Given the description of an element on the screen output the (x, y) to click on. 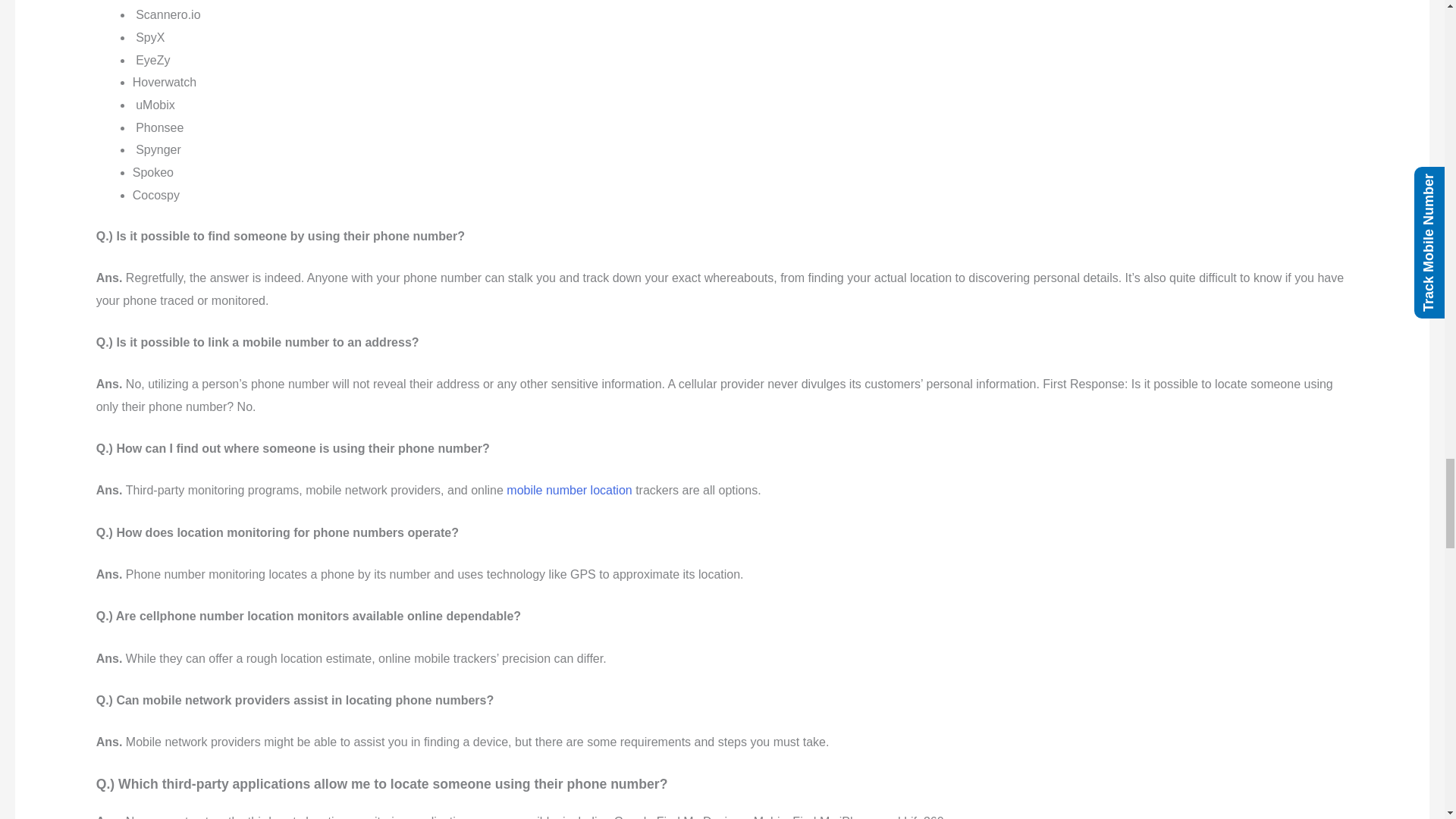
Click the link to check more about Track Mobile Phone (568, 490)
mobile number location (568, 490)
